Given the description of an element on the screen output the (x, y) to click on. 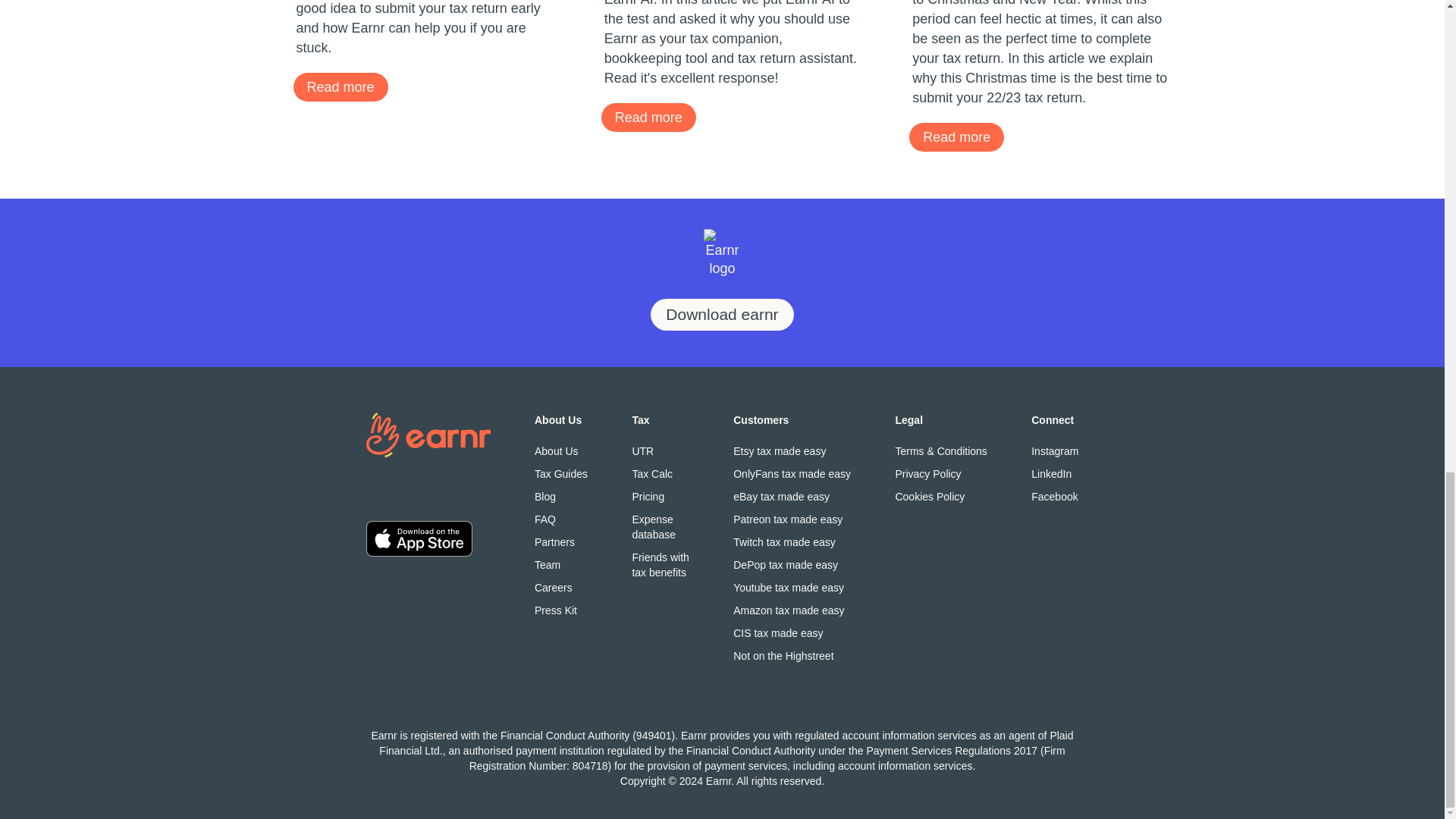
Read more (956, 136)
Pricing (659, 496)
About Us (561, 450)
Read more (339, 86)
FAQ (561, 519)
Tax Guides (561, 473)
Download earnr (721, 314)
Team (659, 526)
UTR (561, 564)
Partners (659, 450)
Blog (561, 541)
Read more (561, 496)
Careers (648, 117)
Press Kit (561, 587)
